Given the description of an element on the screen output the (x, y) to click on. 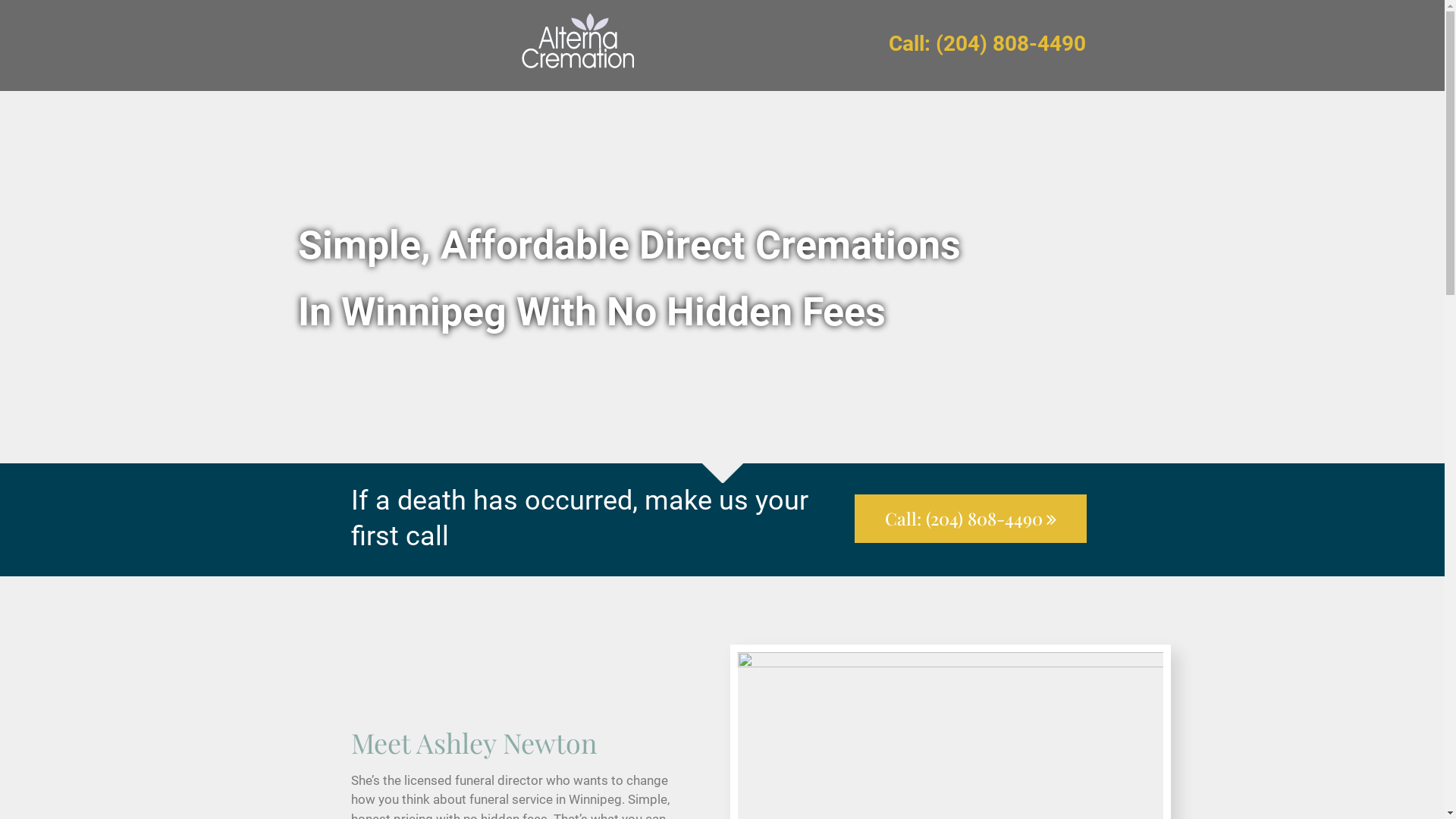
Call: (204) 808-4490 Element type: text (969, 518)
Call: (204) 808-4490 Element type: text (986, 45)
Alterna_logo__2_ Element type: hover (576, 45)
